Given the description of an element on the screen output the (x, y) to click on. 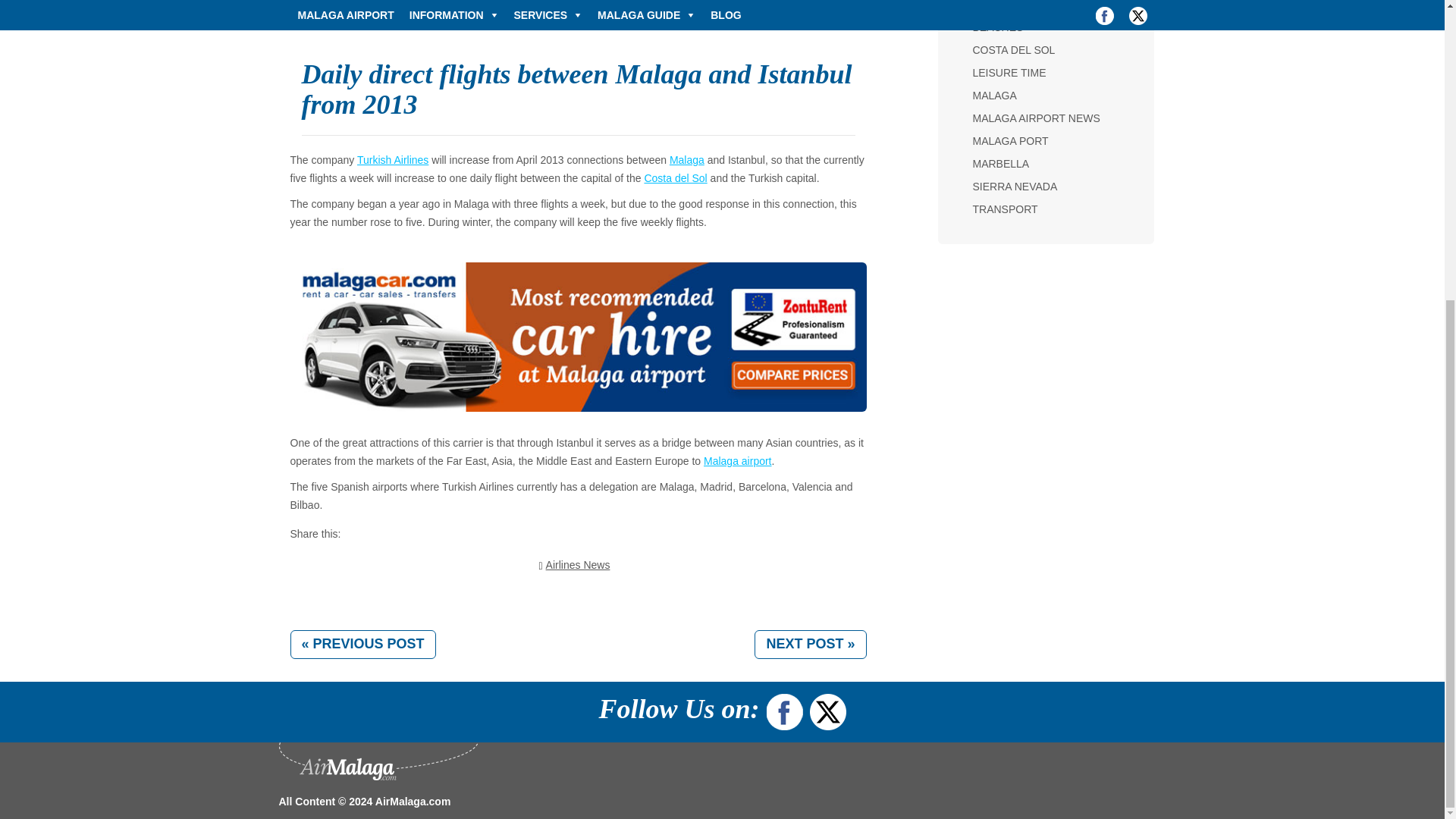
Malaga airport (737, 460)
Turkish Airlines (392, 159)
Costa del Sol (674, 177)
Malaga (686, 159)
AirMalaga.com on Facebook (785, 708)
AirMalaga.com on X (827, 708)
